Given the description of an element on the screen output the (x, y) to click on. 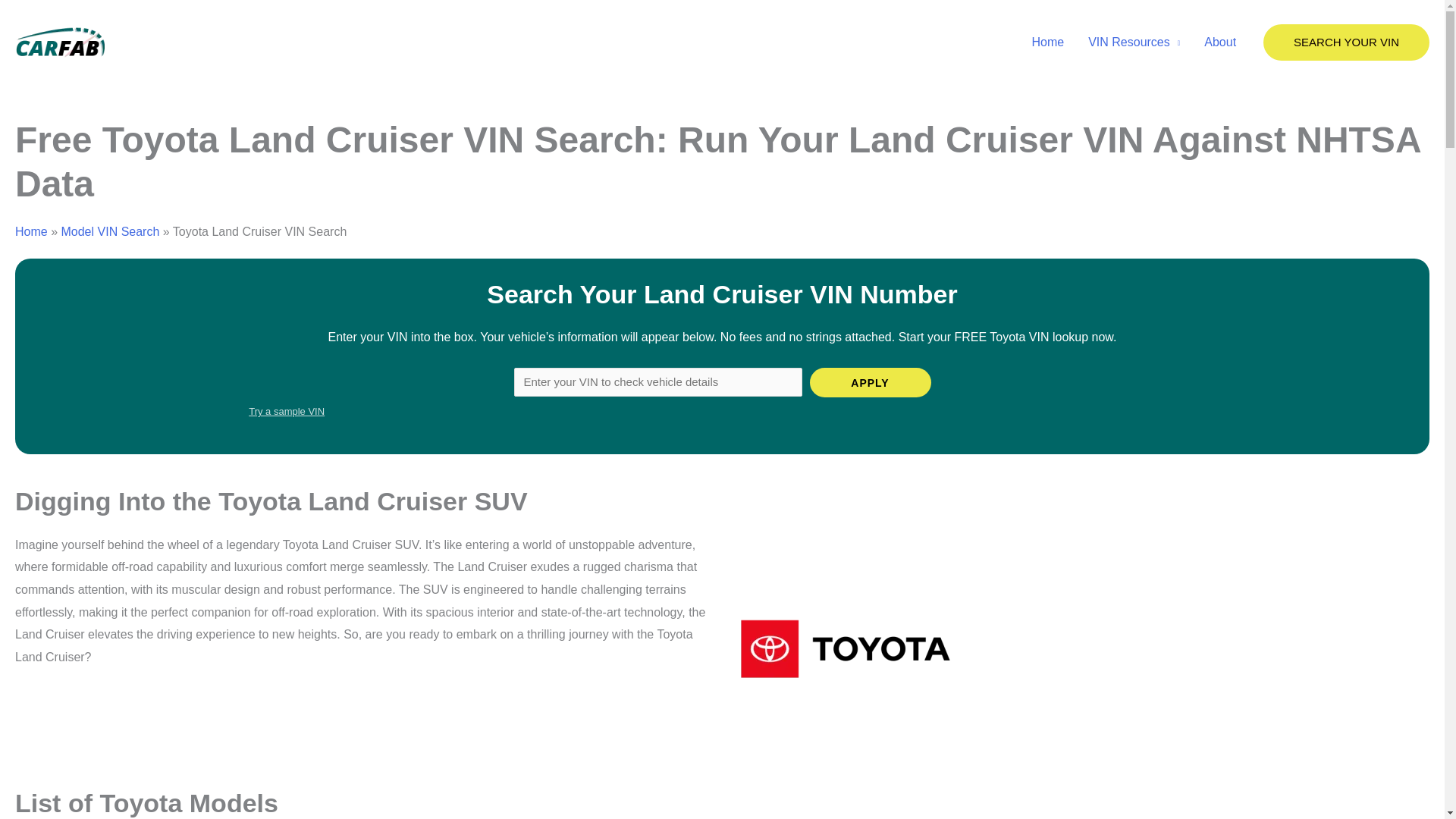
Home (31, 231)
VIN Resources (1133, 41)
SEARCH YOUR VIN (1346, 42)
Model VIN Search (109, 231)
Home (1047, 41)
APPLY (870, 382)
About (1219, 41)
